Given the description of an element on the screen output the (x, y) to click on. 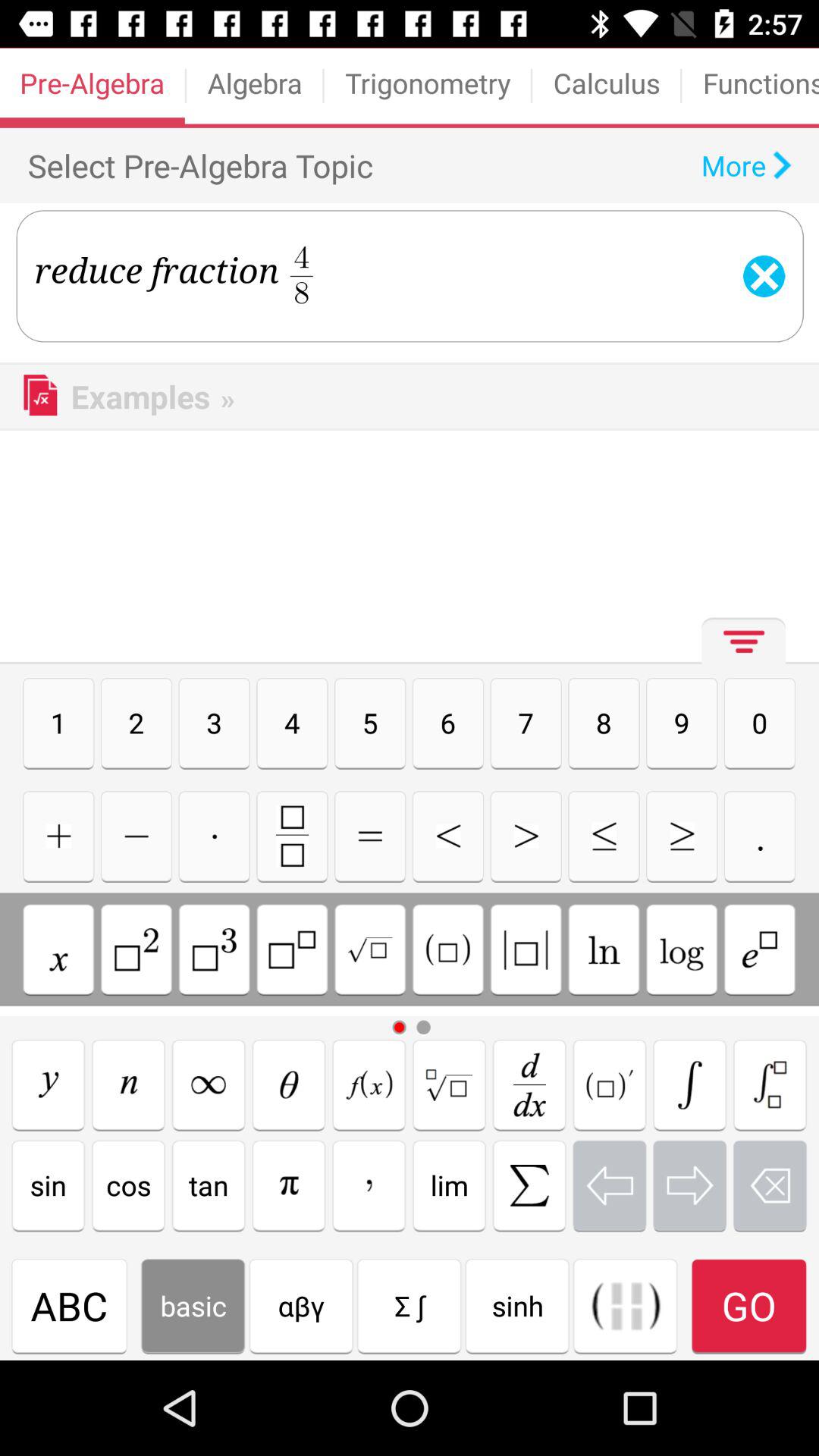
teda option (288, 1084)
